Given the description of an element on the screen output the (x, y) to click on. 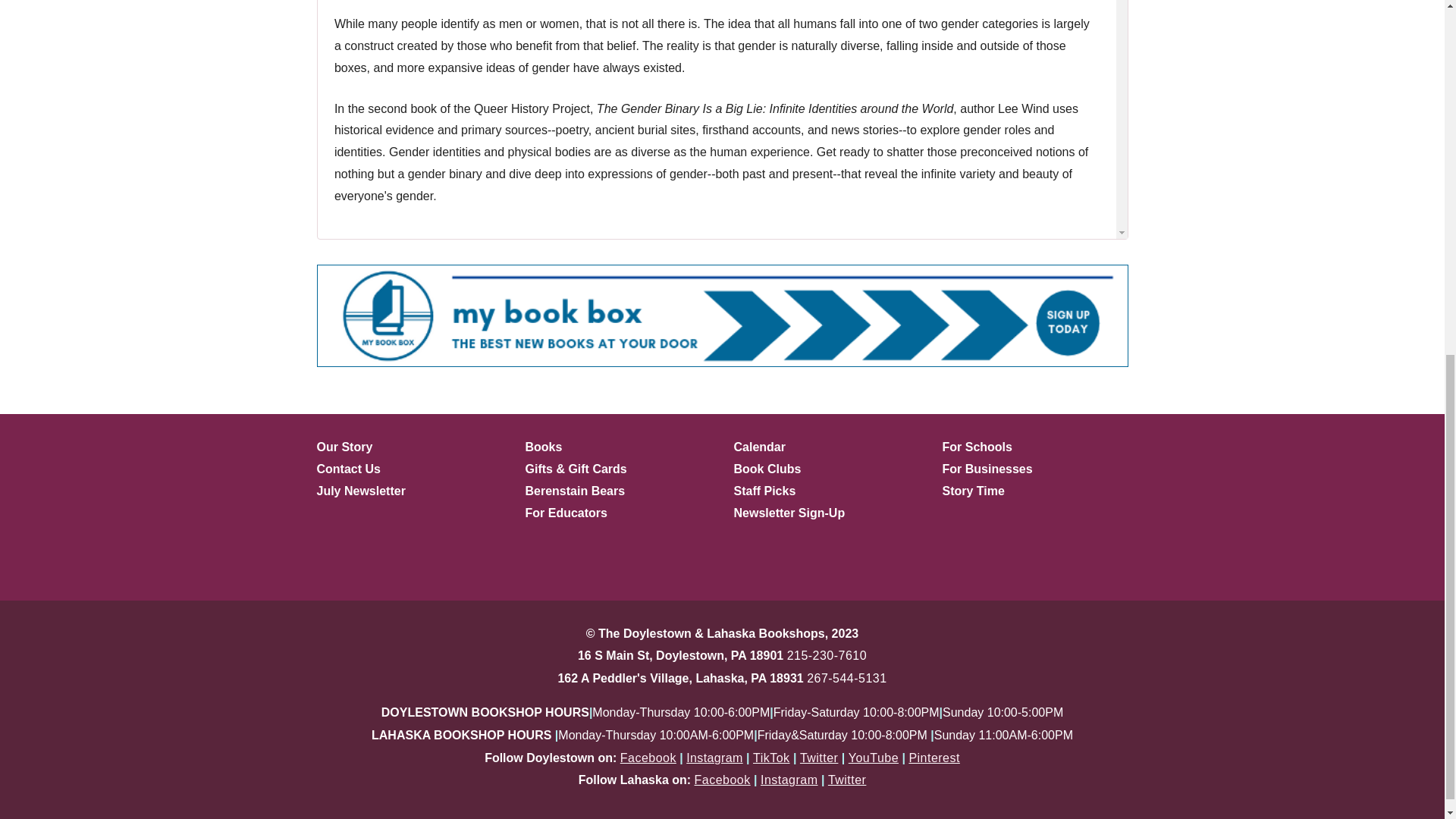
Staff Picks (764, 490)
Facebook (648, 757)
267-544-5131 (846, 677)
Book Clubs (767, 468)
Newsletter Sign-Up (789, 512)
Contact Us (348, 468)
For Businesses (987, 468)
Berenstain Bears (574, 490)
Books (543, 446)
Calendar (759, 446)
Story Time (973, 490)
For Schools (976, 446)
215-230-7610 (826, 655)
For Educators (565, 512)
Our Story (344, 446)
